Given the description of an element on the screen output the (x, y) to click on. 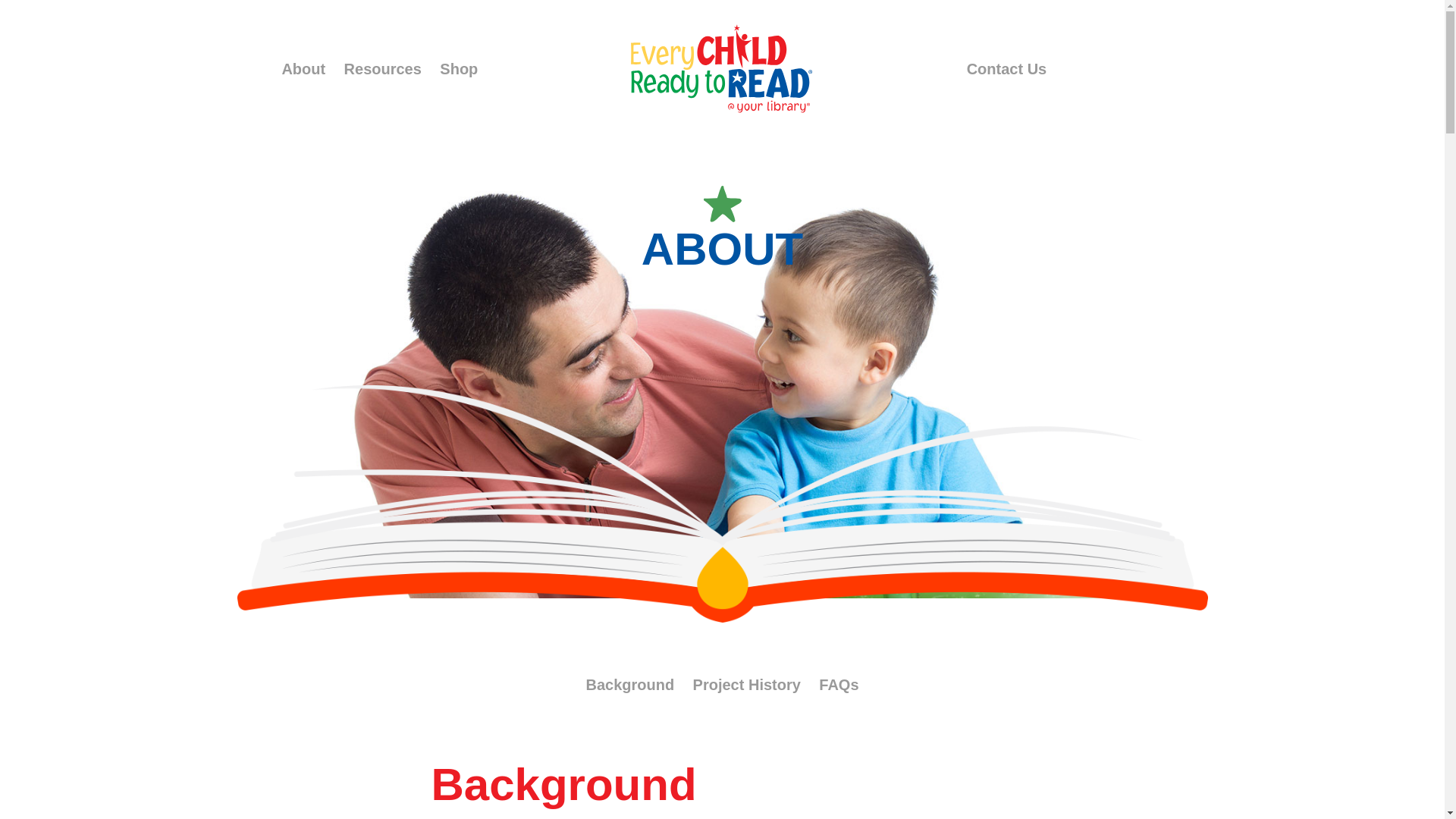
Project History (746, 684)
About (302, 67)
Resources (382, 67)
Shop (458, 67)
Background (629, 684)
Contact Us (1006, 67)
FAQs (838, 684)
